Given the description of an element on the screen output the (x, y) to click on. 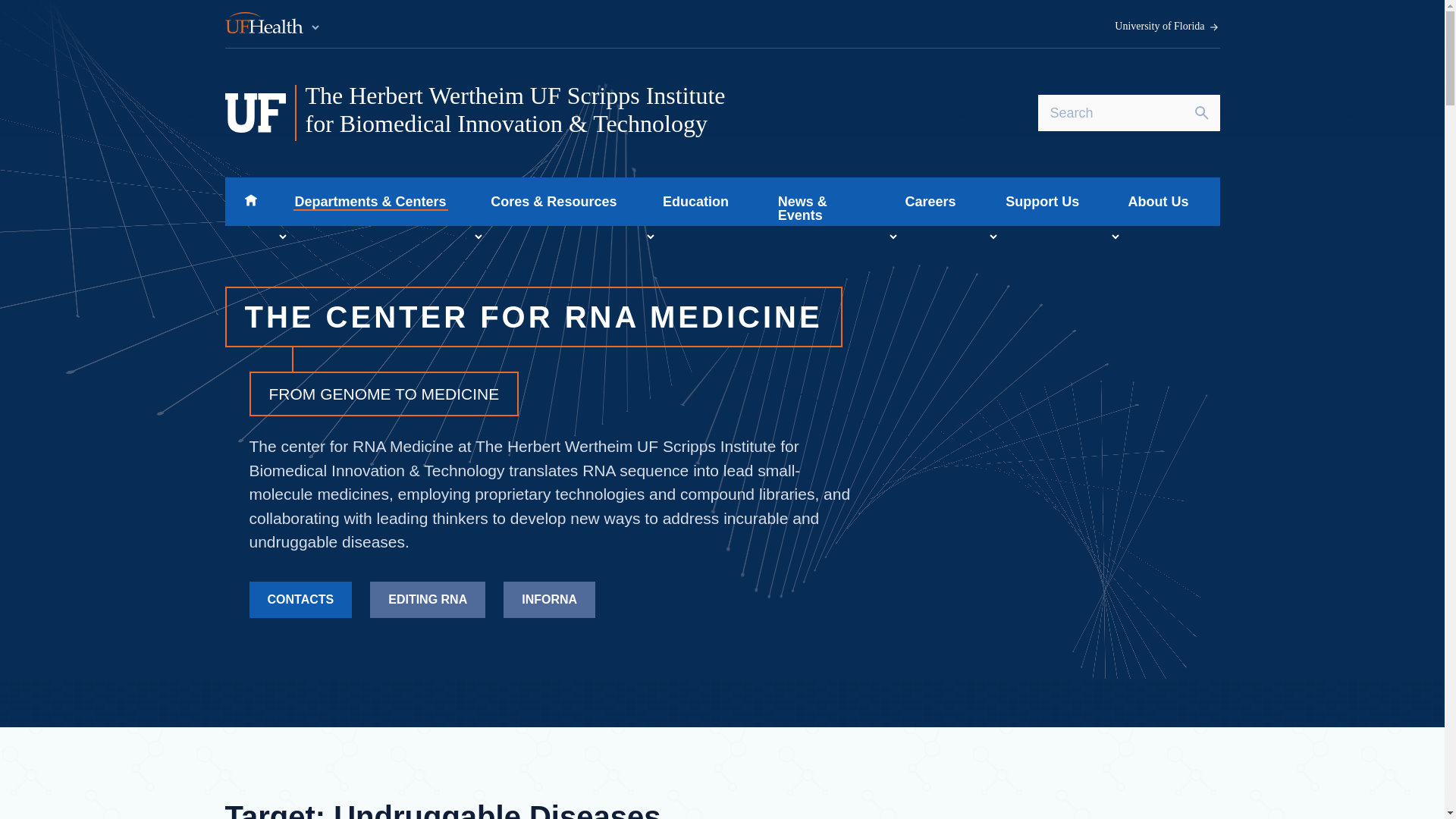
Home (250, 201)
University of Florida (1167, 26)
UF Health (272, 24)
